Given the description of an element on the screen output the (x, y) to click on. 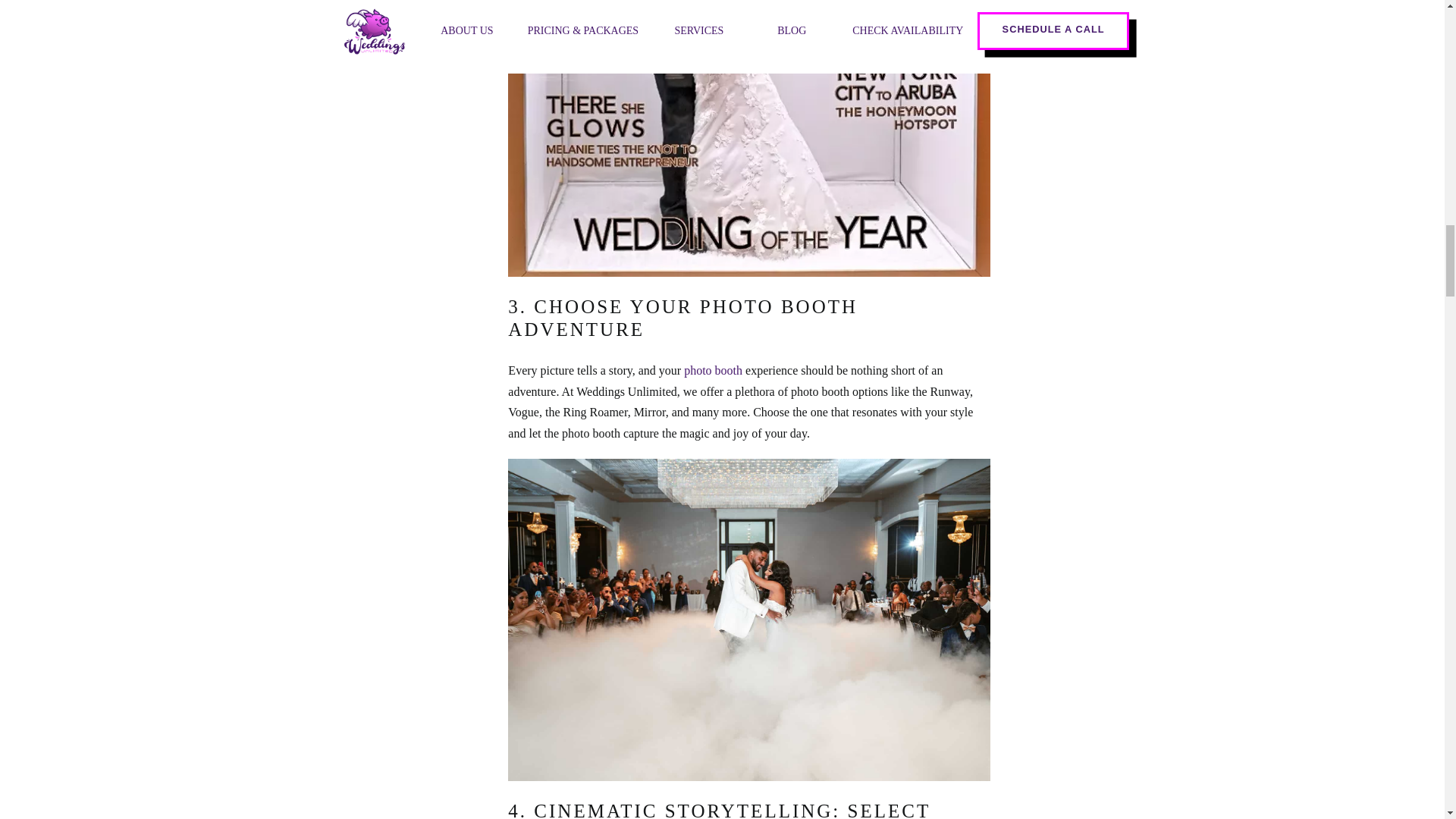
vogue magazine photo booth (749, 138)
photo booth (713, 369)
